Given the description of an element on the screen output the (x, y) to click on. 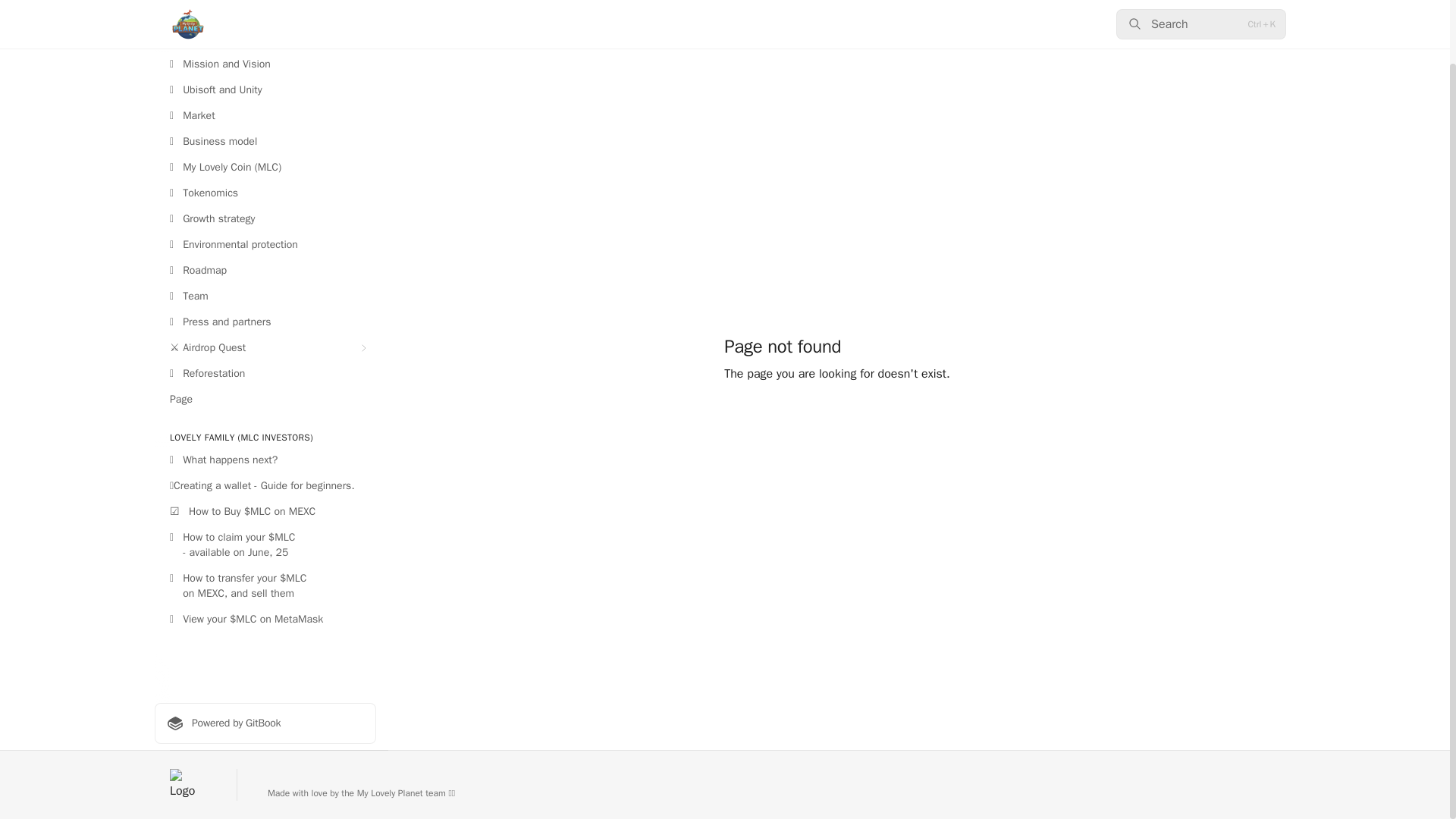
Page (264, 399)
Powered by GitBook (264, 722)
